Given the description of an element on the screen output the (x, y) to click on. 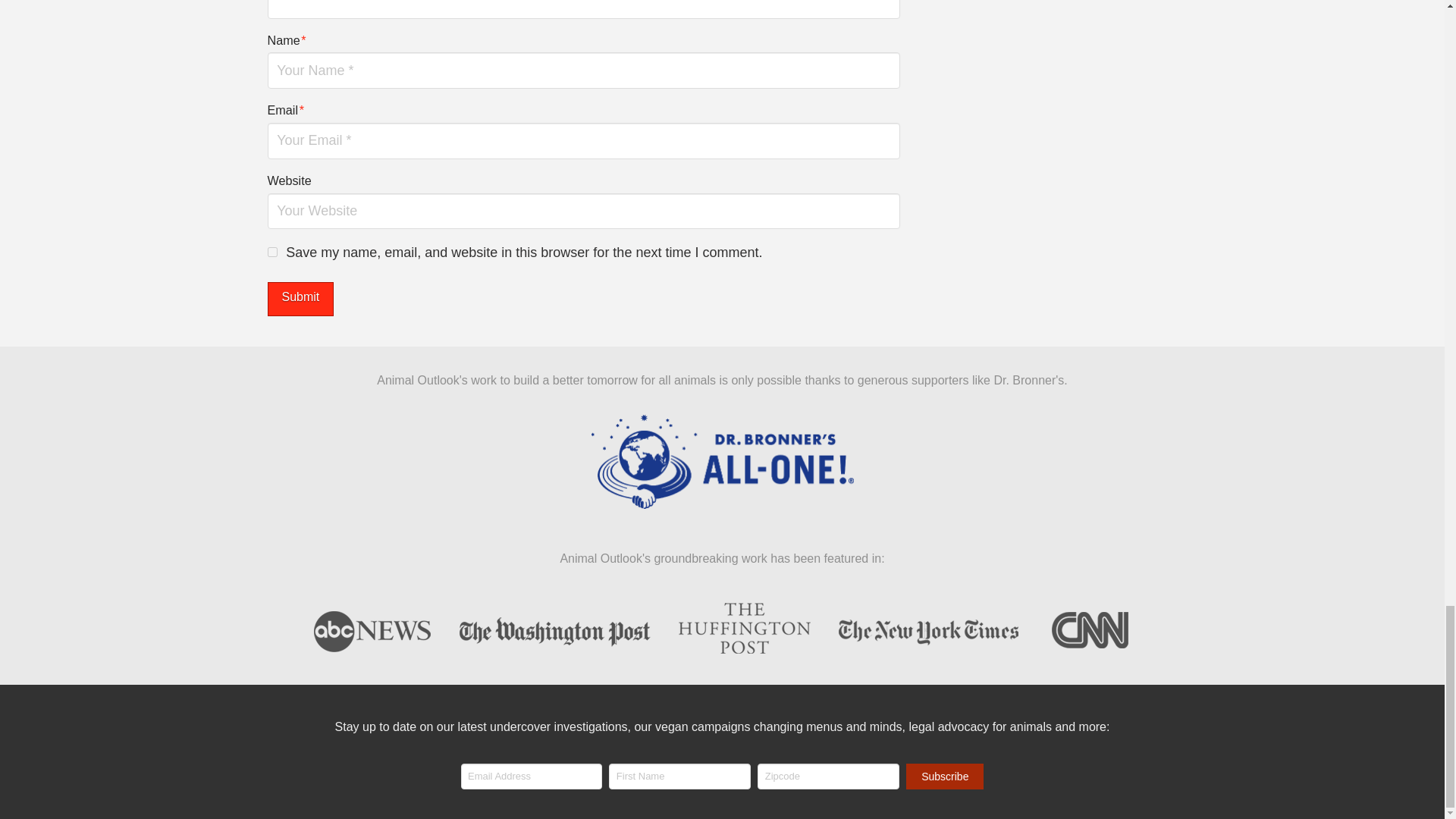
Submit (299, 298)
yes (271, 252)
Subscribe (944, 776)
